Given the description of an element on the screen output the (x, y) to click on. 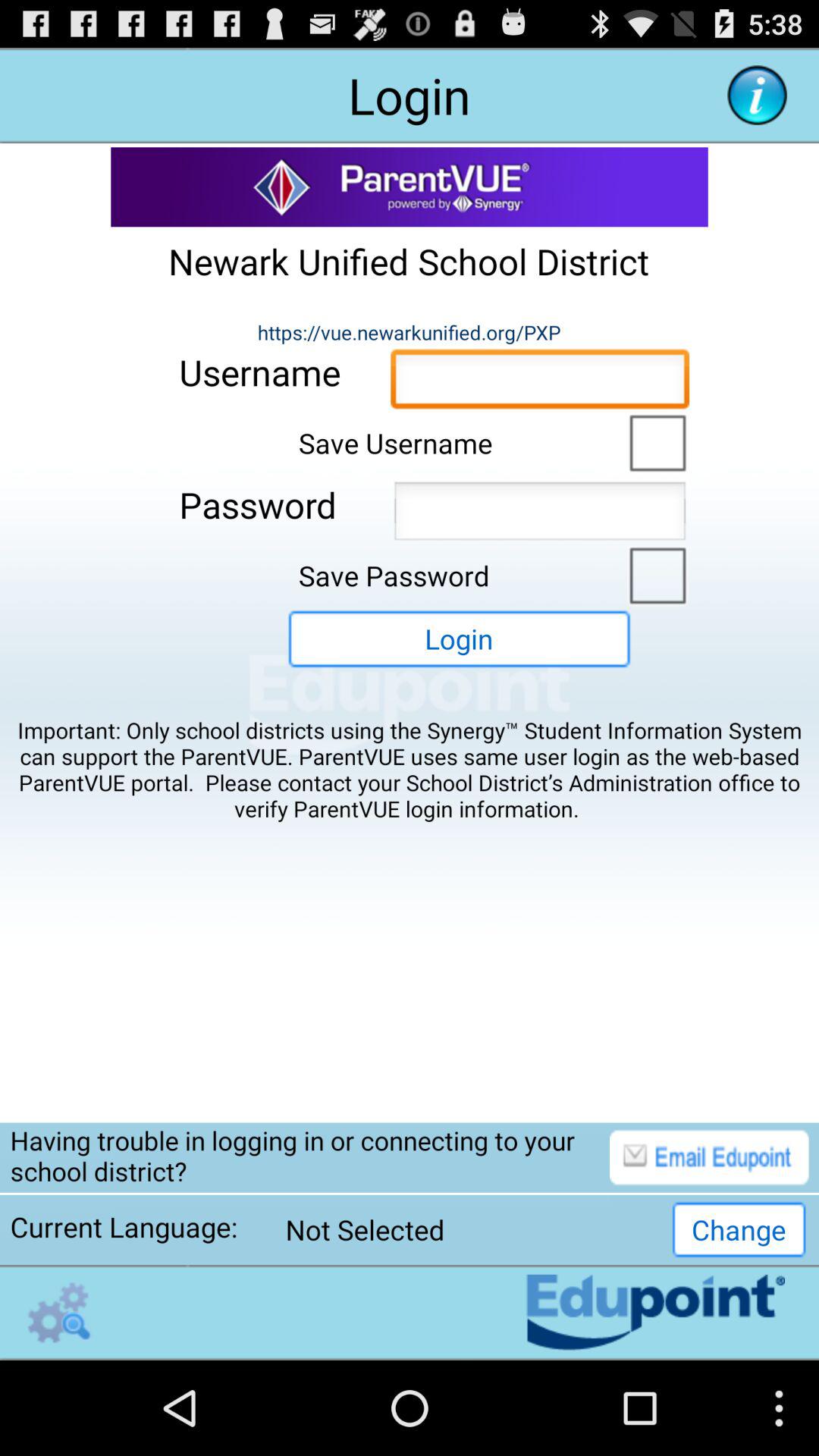
check to save username (654, 441)
